Given the description of an element on the screen output the (x, y) to click on. 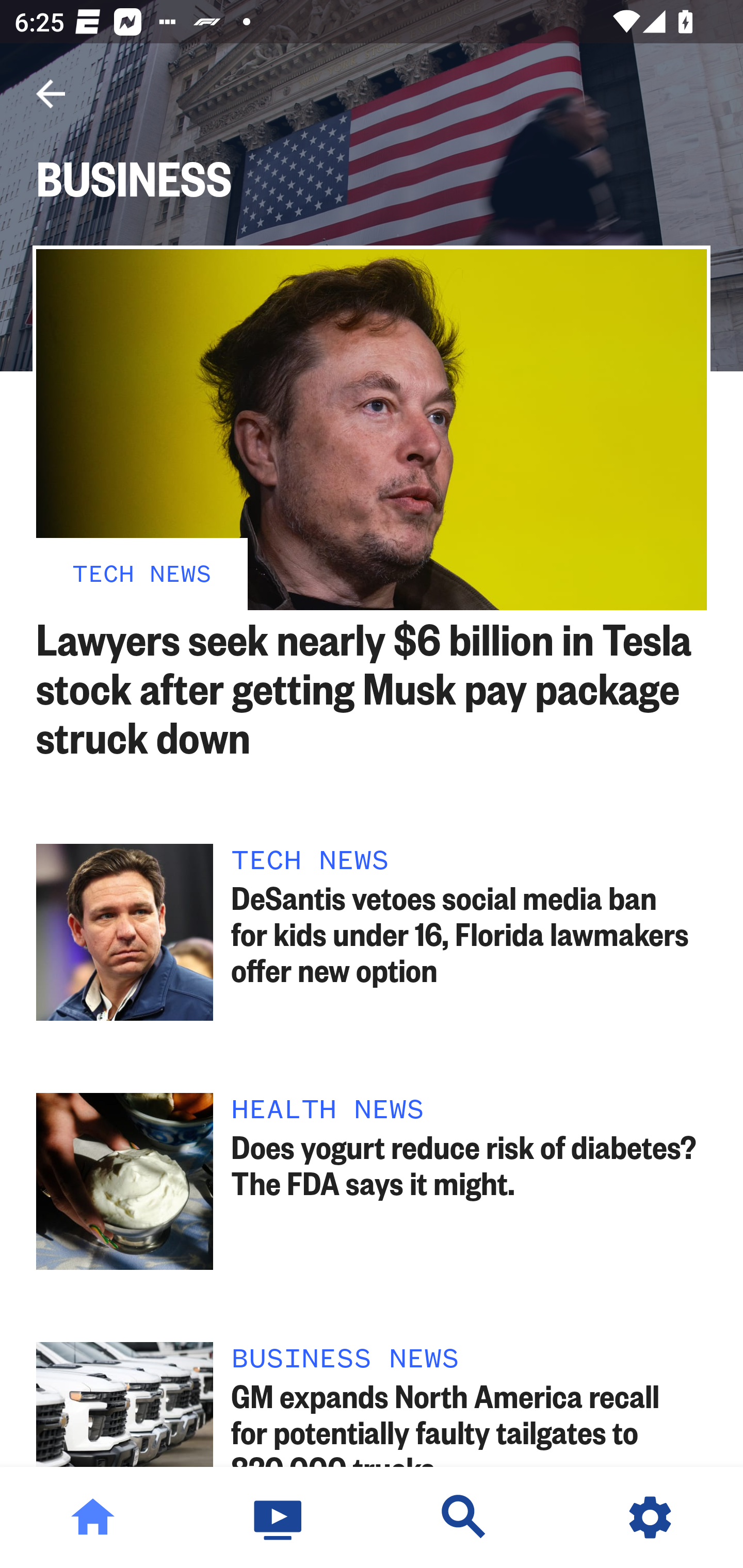
Navigate up (50, 93)
Watch (278, 1517)
Discover (464, 1517)
Settings (650, 1517)
